Given the description of an element on the screen output the (x, y) to click on. 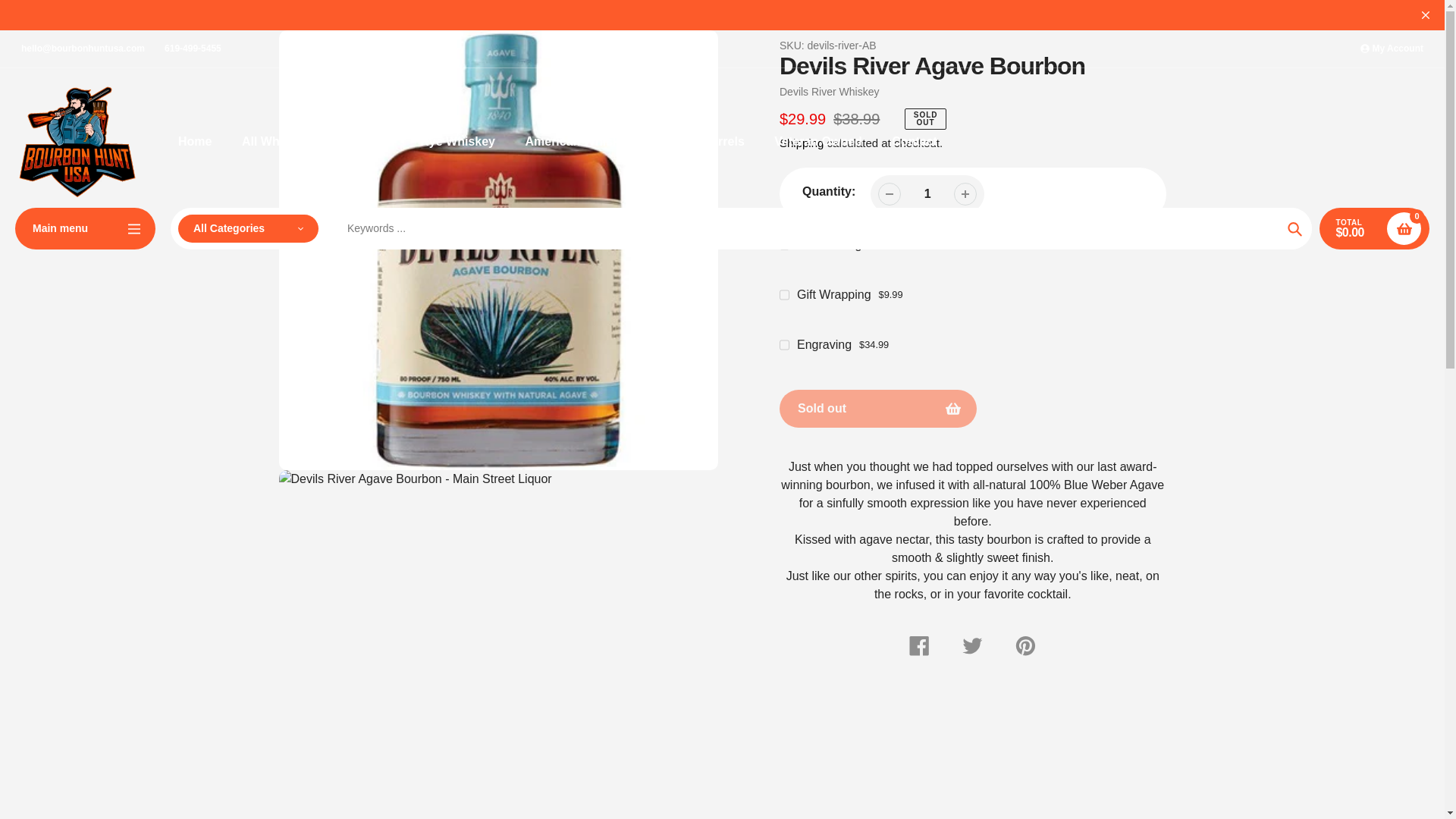
Contact (914, 141)
Bourbon (364, 141)
Rye Whiskey (457, 141)
All Categories (247, 228)
American Whiskey (577, 141)
1 (927, 193)
My Account (1391, 48)
All Whiskey (275, 141)
Veteran Owned (817, 141)
Single Barrels (703, 141)
